Given the description of an element on the screen output the (x, y) to click on. 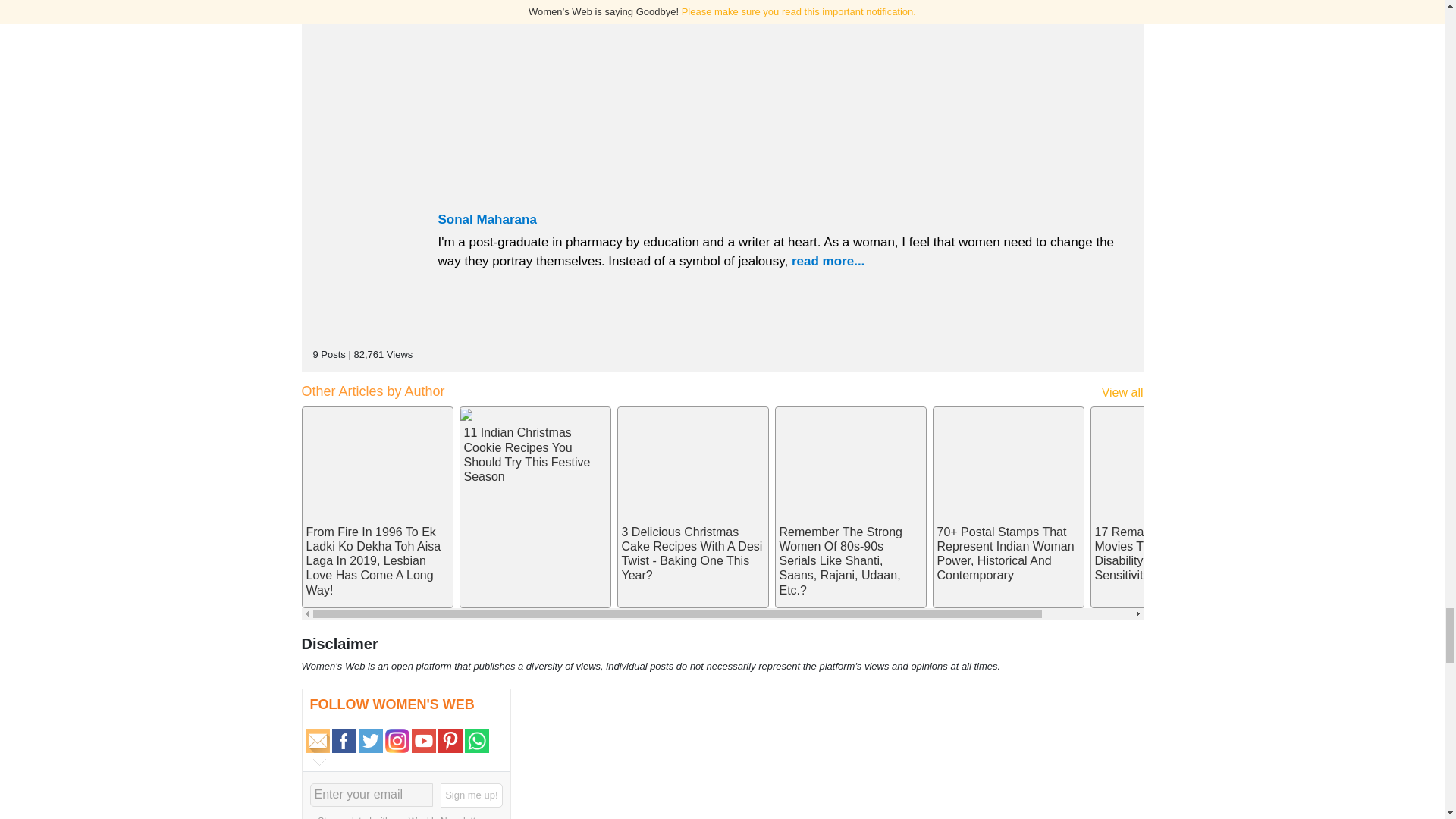
Sign me up! (471, 794)
